Given the description of an element on the screen output the (x, y) to click on. 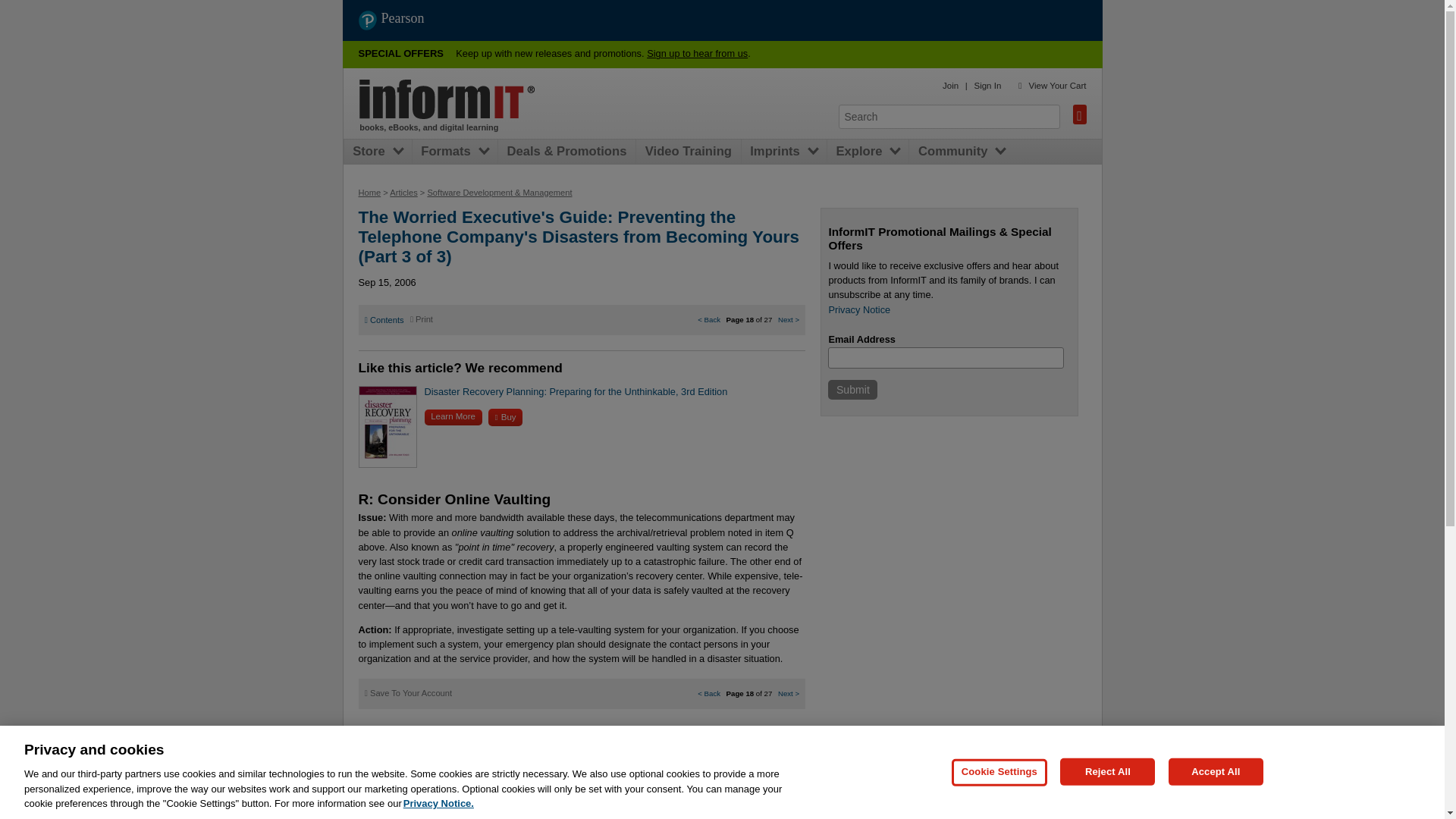
Submit (852, 389)
Learn More (453, 417)
Home (446, 98)
Home (369, 192)
Print (421, 318)
Sign up to hear from us (697, 52)
Articles (403, 192)
